Given the description of an element on the screen output the (x, y) to click on. 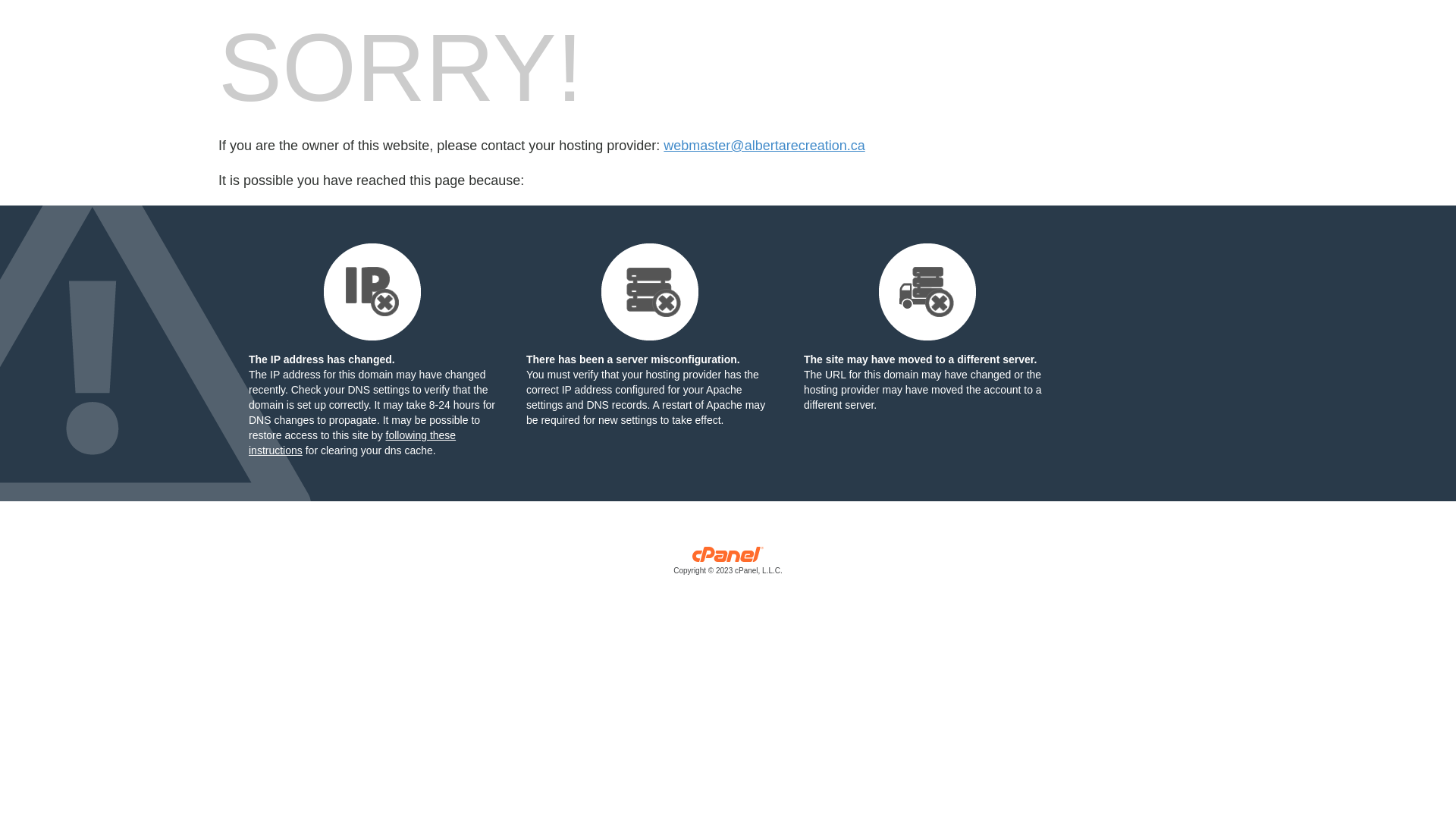
webmaster@albertarecreation.ca Element type: text (763, 145)
following these instructions Element type: text (351, 442)
